Given the description of an element on the screen output the (x, y) to click on. 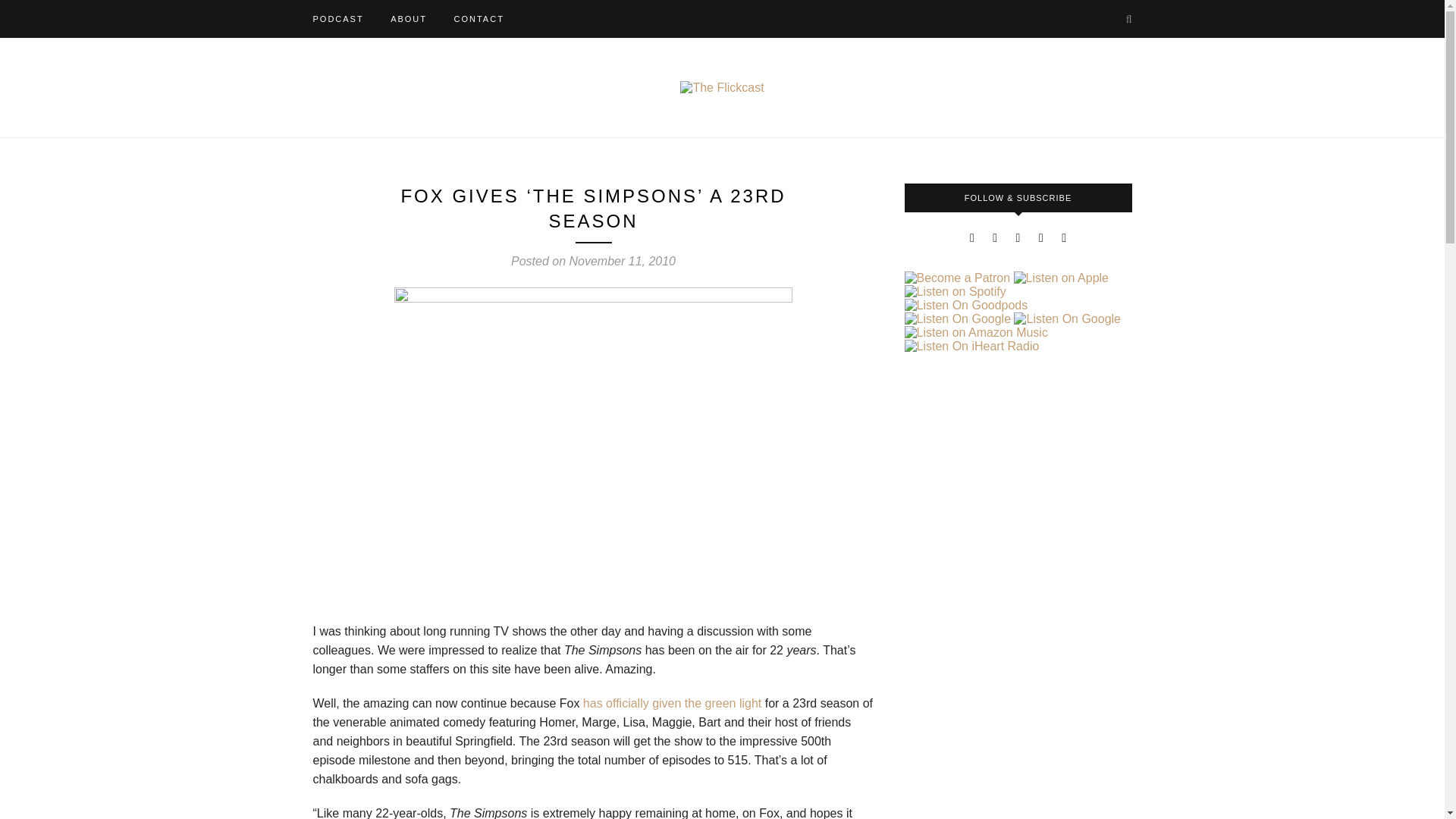
CONTACT (477, 18)
ABOUT (408, 18)
has officially given the green light (672, 703)
PODCAST (337, 18)
